Given the description of an element on the screen output the (x, y) to click on. 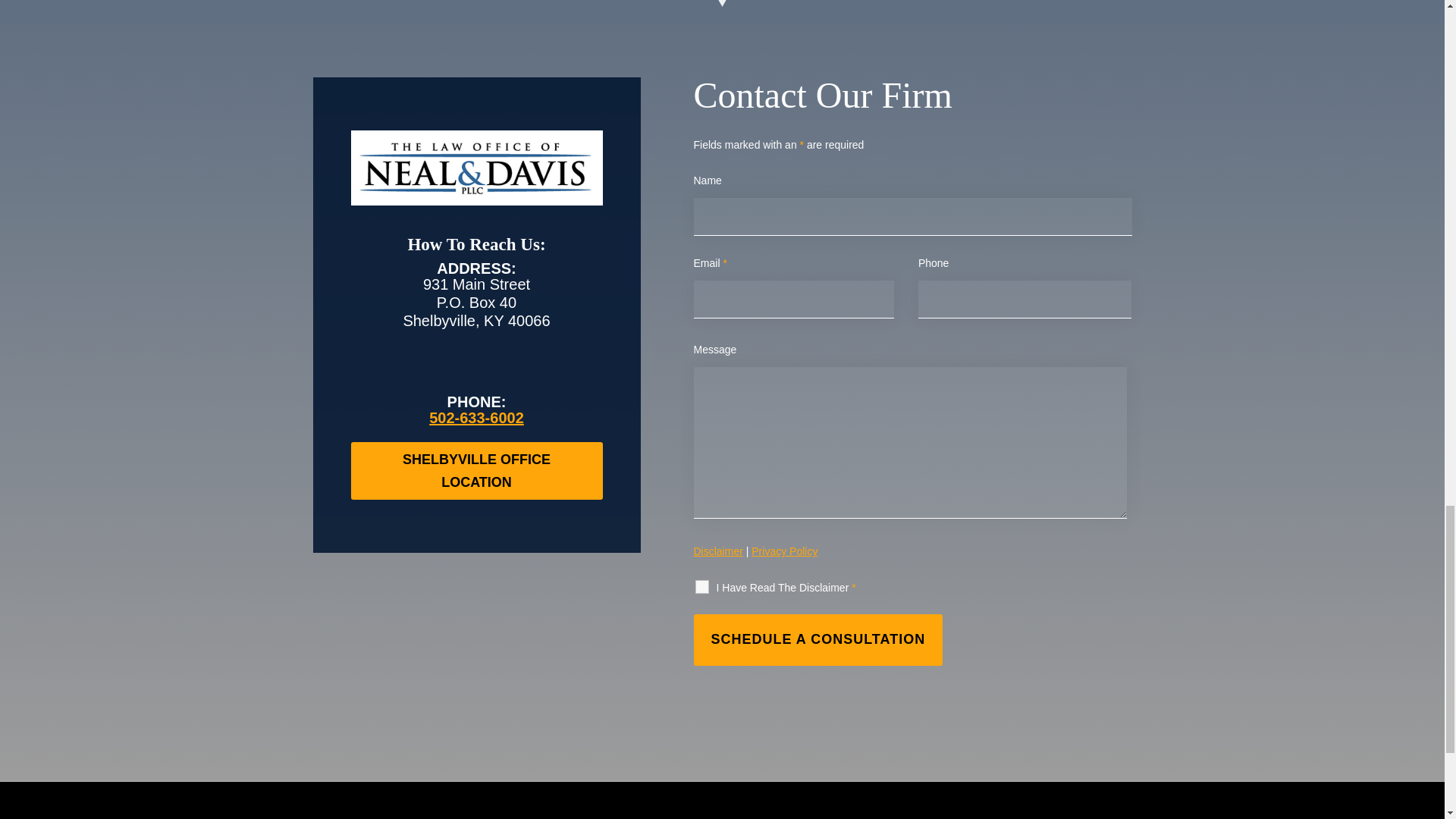
logo-new (476, 168)
Schedule A Consultation (817, 639)
